Given the description of an element on the screen output the (x, y) to click on. 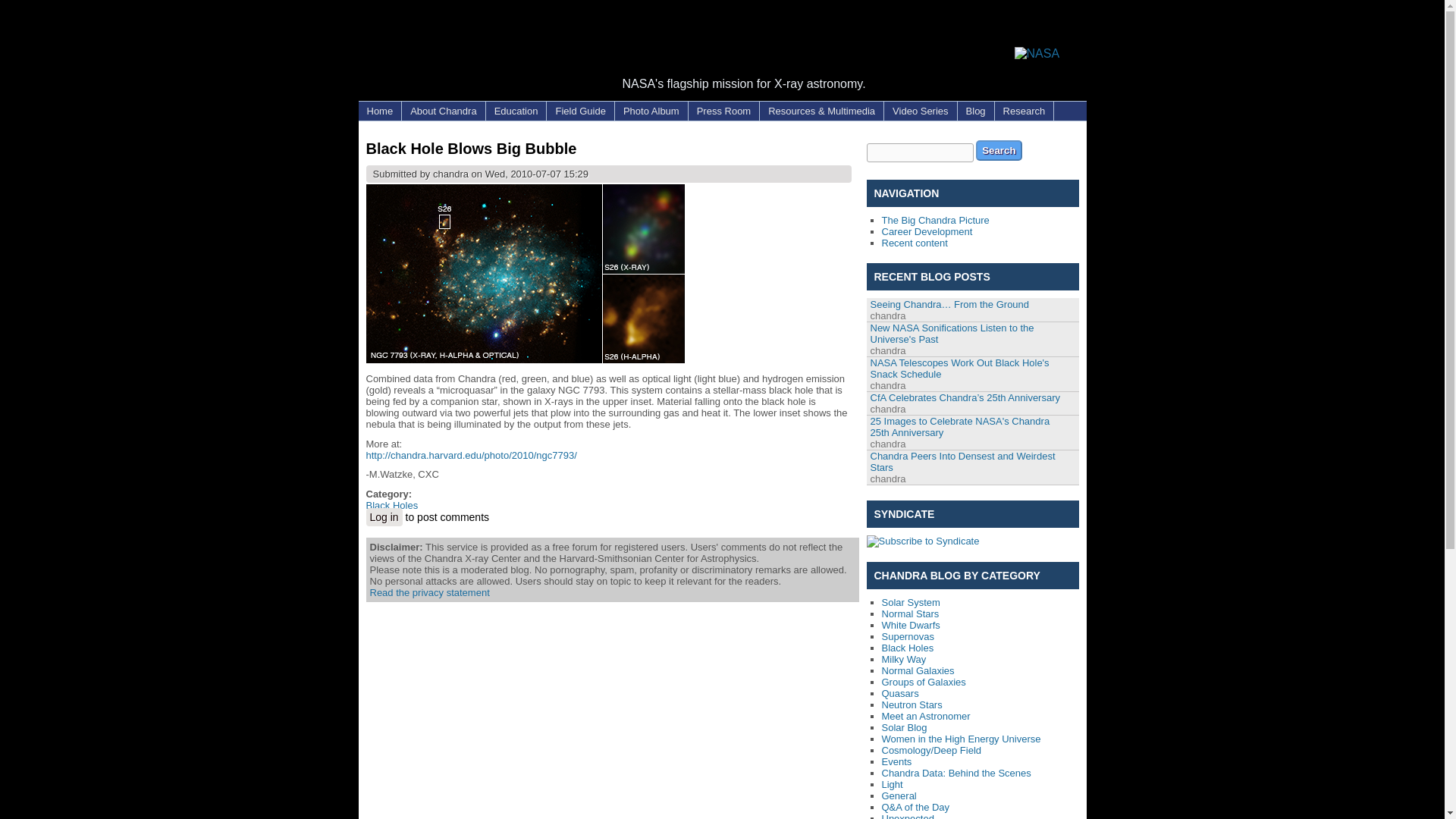
Chandra Peers Into Densest and Weirdest Stars (962, 461)
Milky Way (903, 659)
Research (1024, 110)
Recent content (913, 242)
New NASA Sonifications Listen to the Universe's Past (951, 333)
NASA Telescopes Work Out Black Hole's Snack Schedule (959, 368)
Quasars (899, 693)
Black Holes (906, 647)
Normal Stars (909, 613)
About Chandra (442, 110)
